Given the description of an element on the screen output the (x, y) to click on. 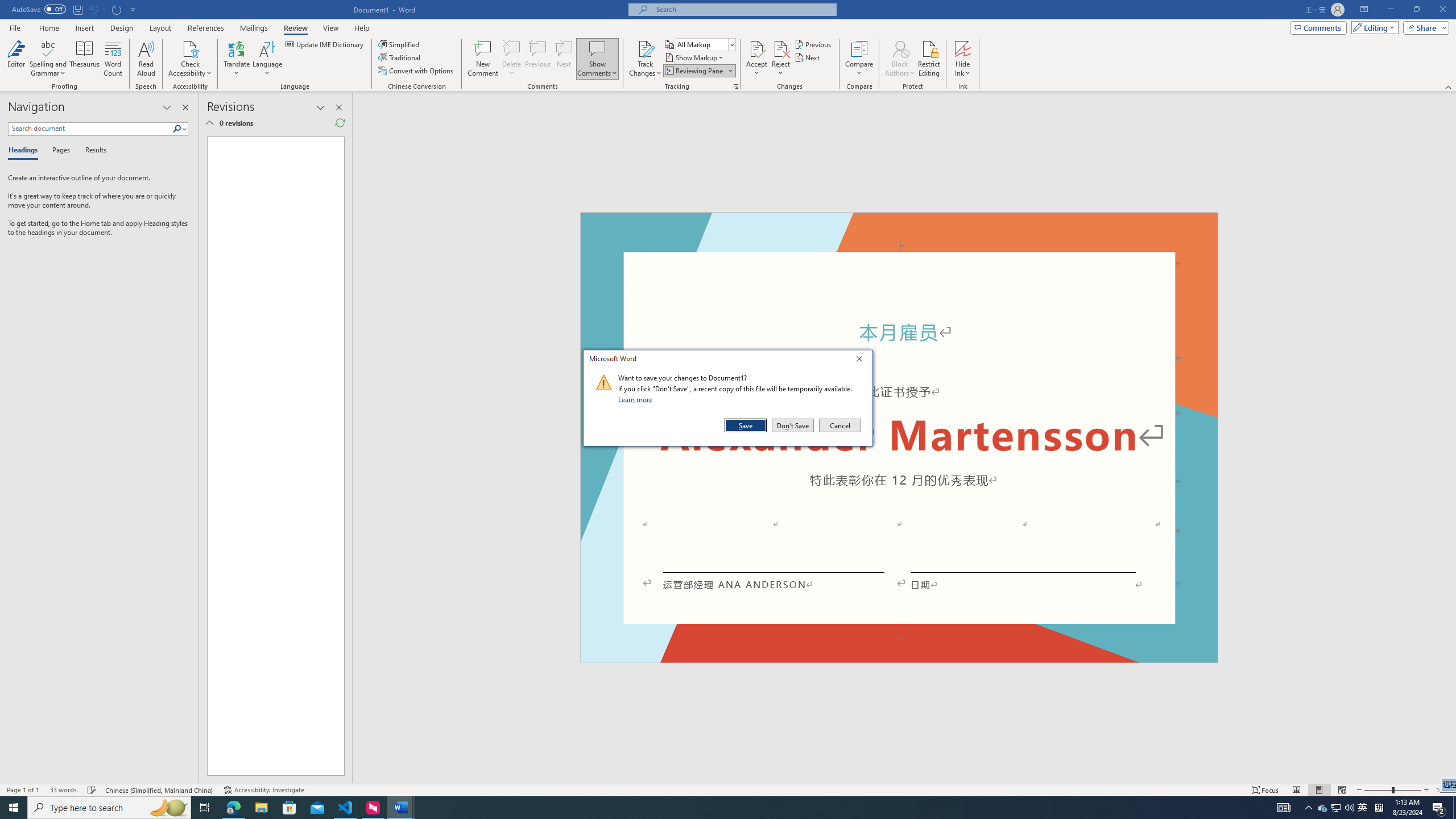
Update IME Dictionary... (324, 44)
Show Markup (695, 56)
Accept (756, 58)
Tray Input Indicator - Chinese (Simplified, China) (1378, 807)
Don't Save (792, 425)
Word Count (113, 58)
